Given the description of an element on the screen output the (x, y) to click on. 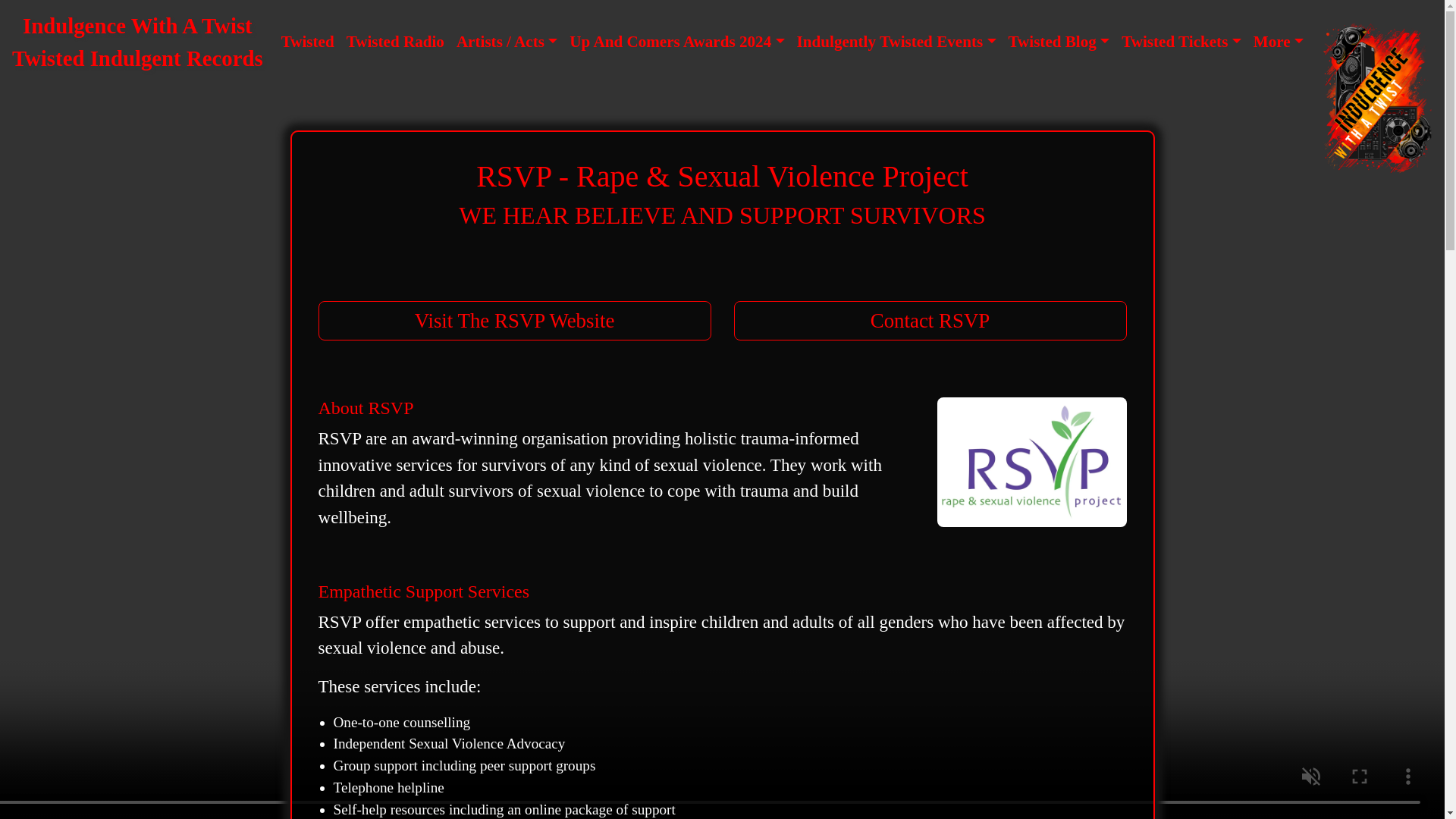
Twisted Radio (394, 42)
Twisted (307, 42)
Go back home... (137, 41)
